Given the description of an element on the screen output the (x, y) to click on. 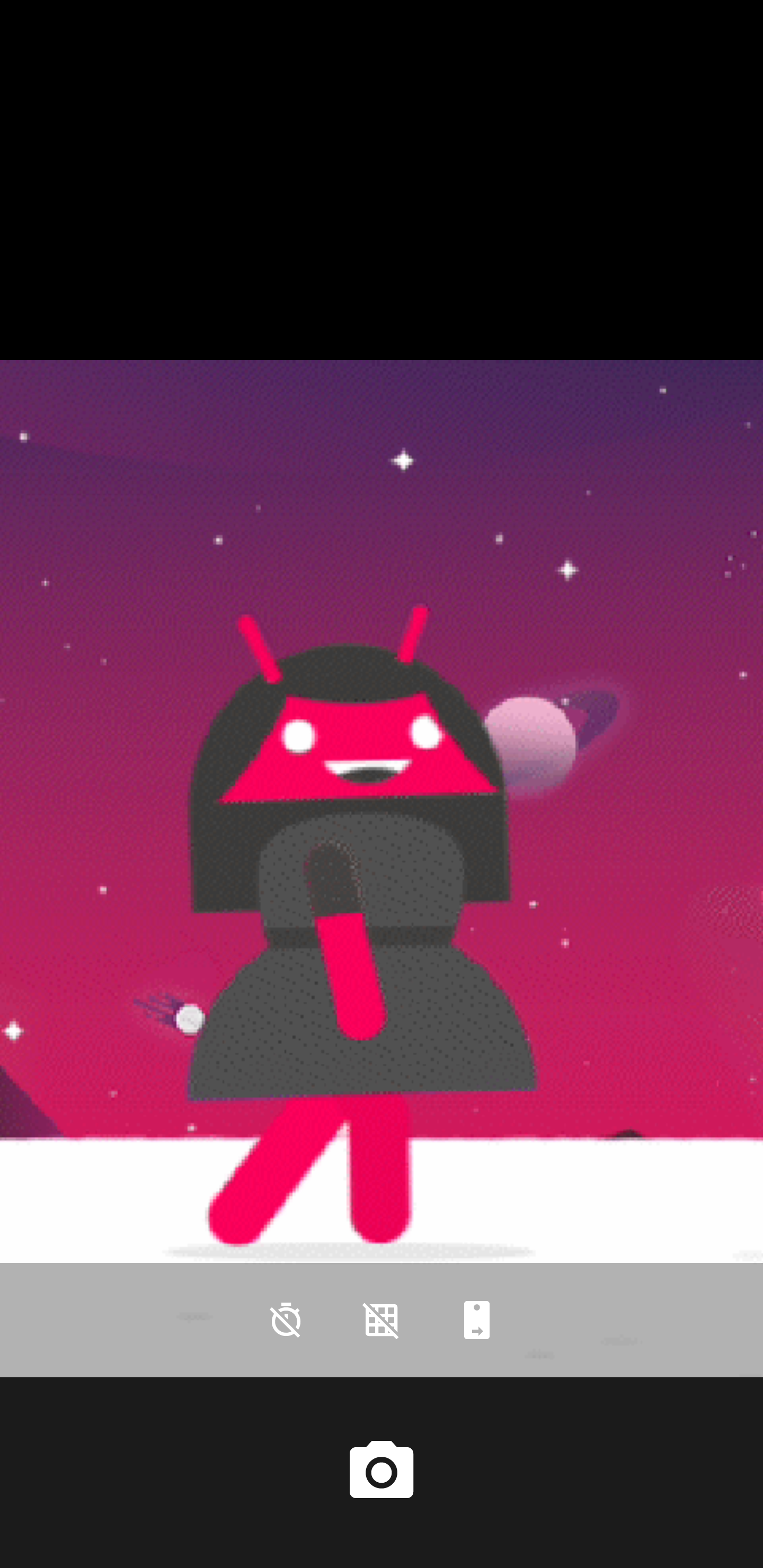
Countdown timer is off (285, 1319)
Grid lines off (381, 1319)
Back camera (476, 1319)
Shutter (381, 1472)
